Given the description of an element on the screen output the (x, y) to click on. 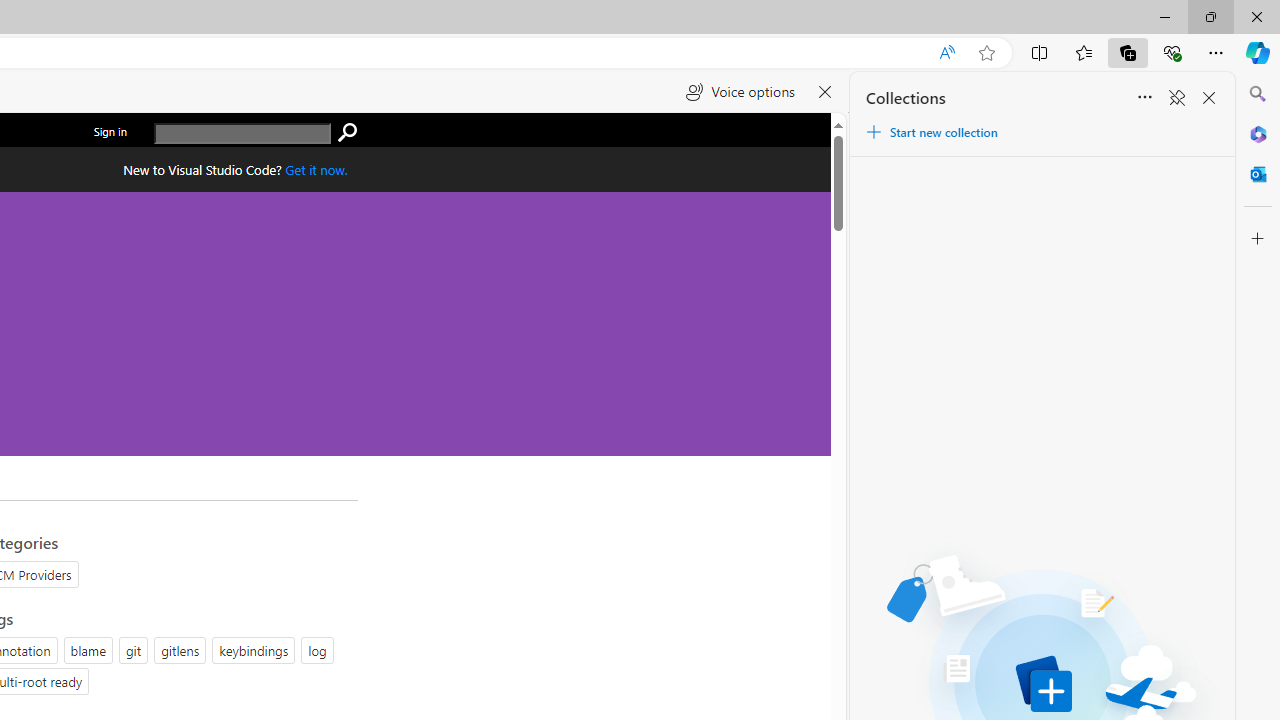
Get Visual Studio Code Now (316, 169)
search (347, 133)
Start new collection (931, 132)
Unpin Collections (1176, 98)
